Given the description of an element on the screen output the (x, y) to click on. 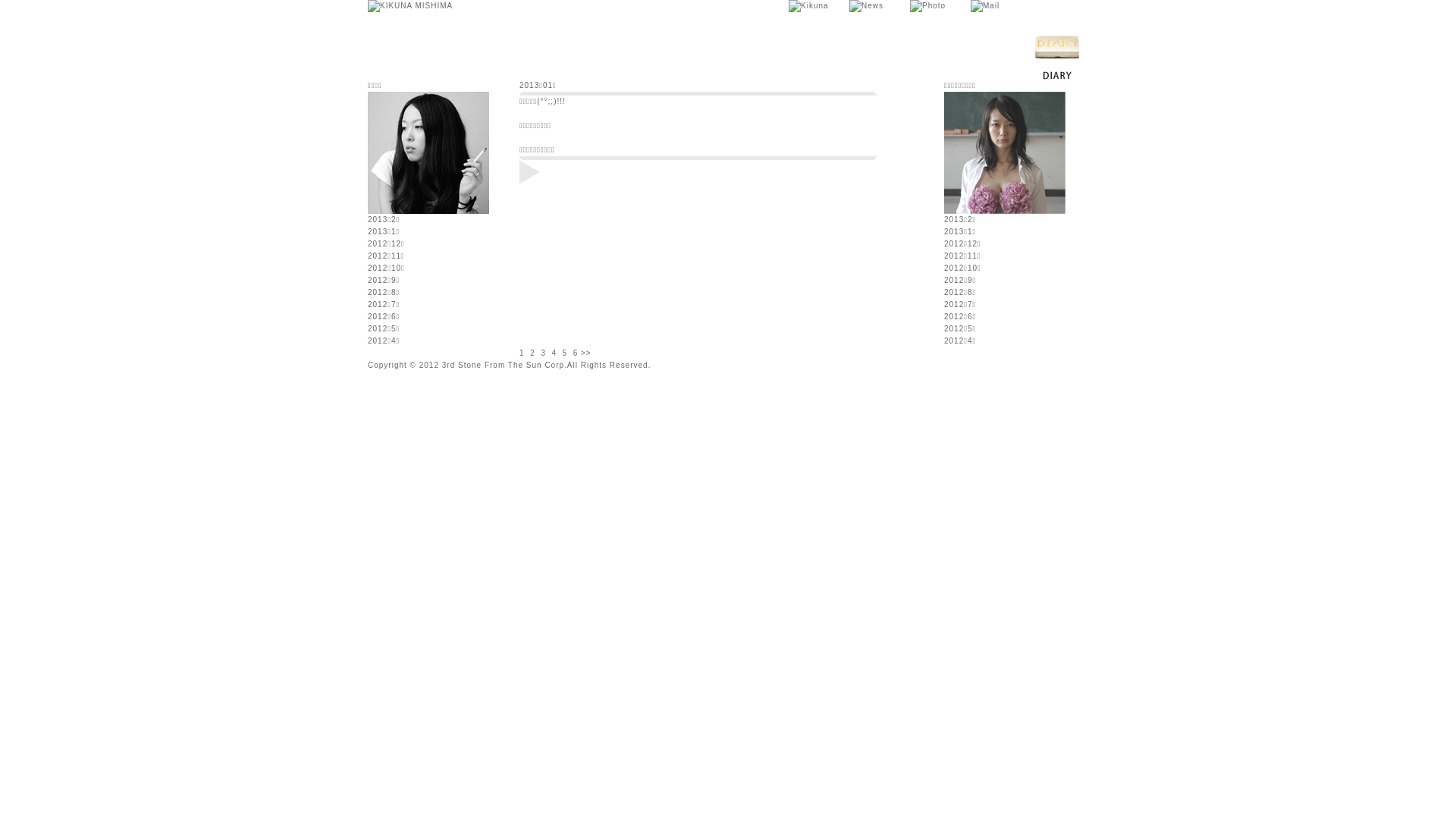
5 Element type: text (564, 352)
2 Element type: text (532, 352)
3 Element type: text (543, 352)
>> Element type: text (585, 352)
6 Element type: text (575, 352)
4 Element type: text (553, 352)
